Given the description of an element on the screen output the (x, y) to click on. 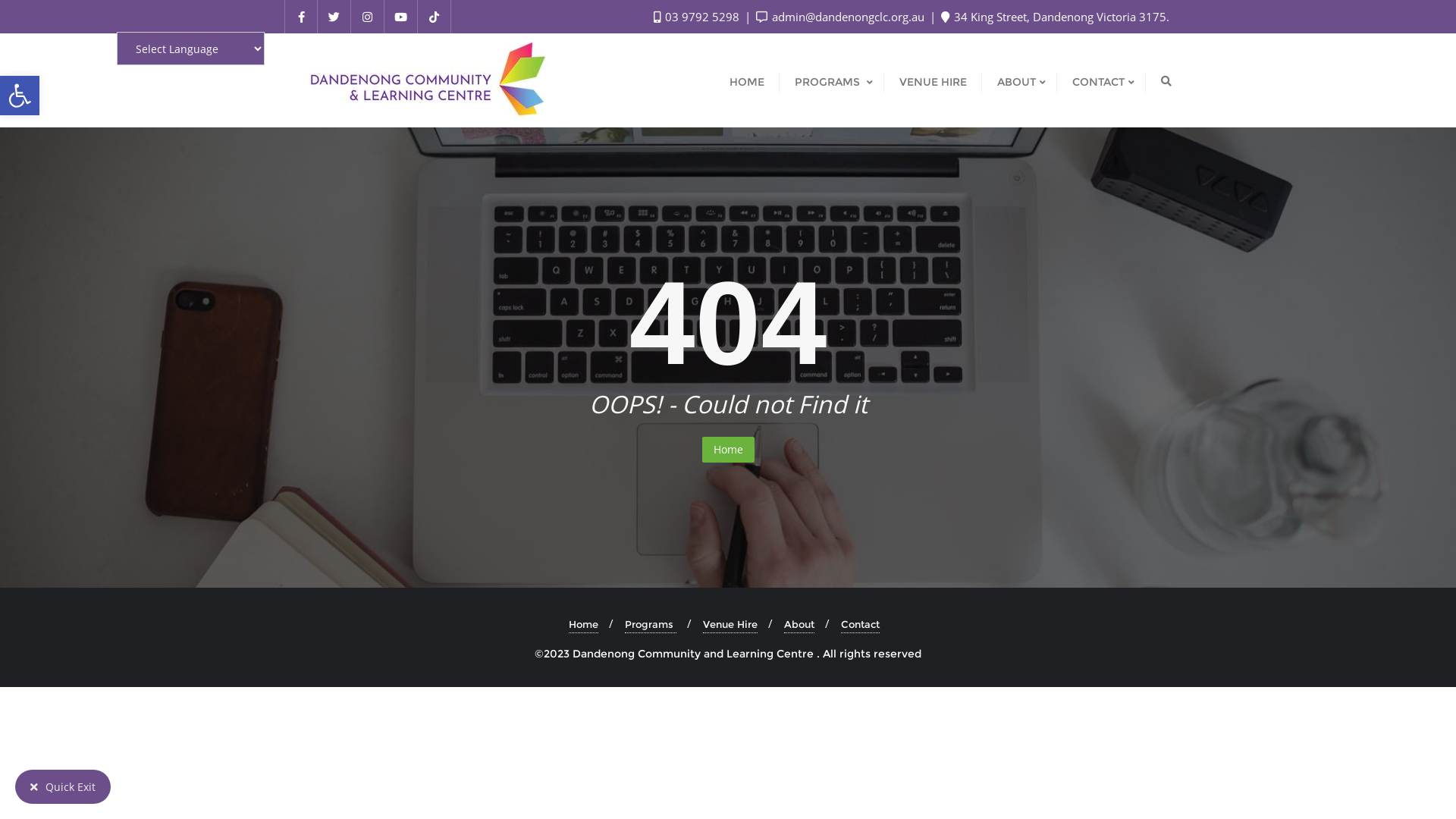
Home Element type: text (583, 624)
Contact Element type: text (859, 624)
Venue Hire Element type: text (729, 624)
Programs  Element type: text (650, 624)
Open toolbar Element type: text (19, 95)
HOME Element type: text (746, 80)
PROGRAMS  Element type: text (831, 80)
About Element type: text (799, 624)
VENUE HIRE Element type: text (933, 80)
CONTACT Element type: text (1101, 80)
Home Element type: text (728, 449)
ABOUT Element type: text (1019, 80)
